Given the description of an element on the screen output the (x, y) to click on. 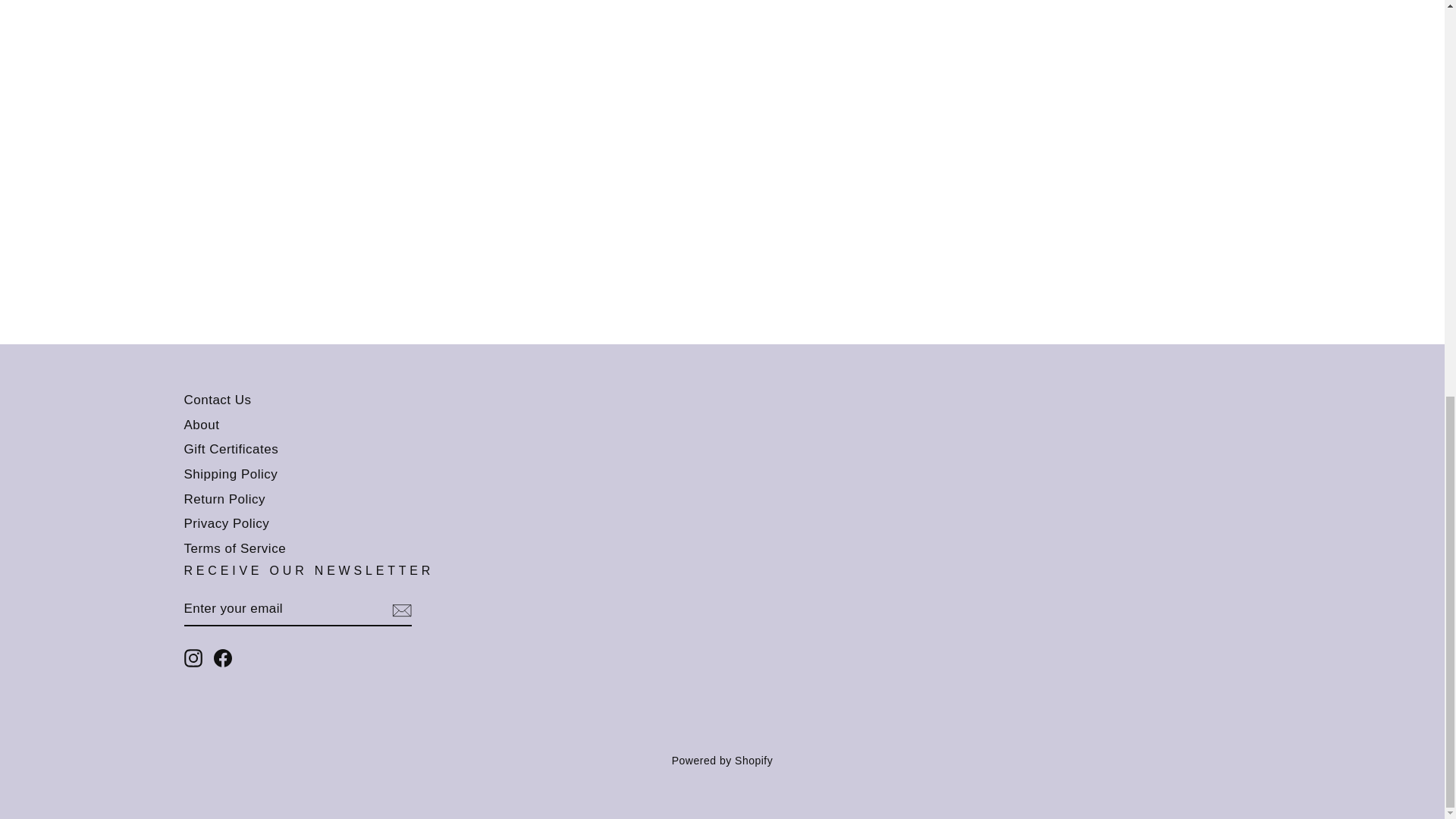
instagram (192, 658)
Betsy Fisher on Instagram (192, 658)
Betsy Fisher on Facebook (222, 658)
icon-email (400, 610)
